Given the description of an element on the screen output the (x, y) to click on. 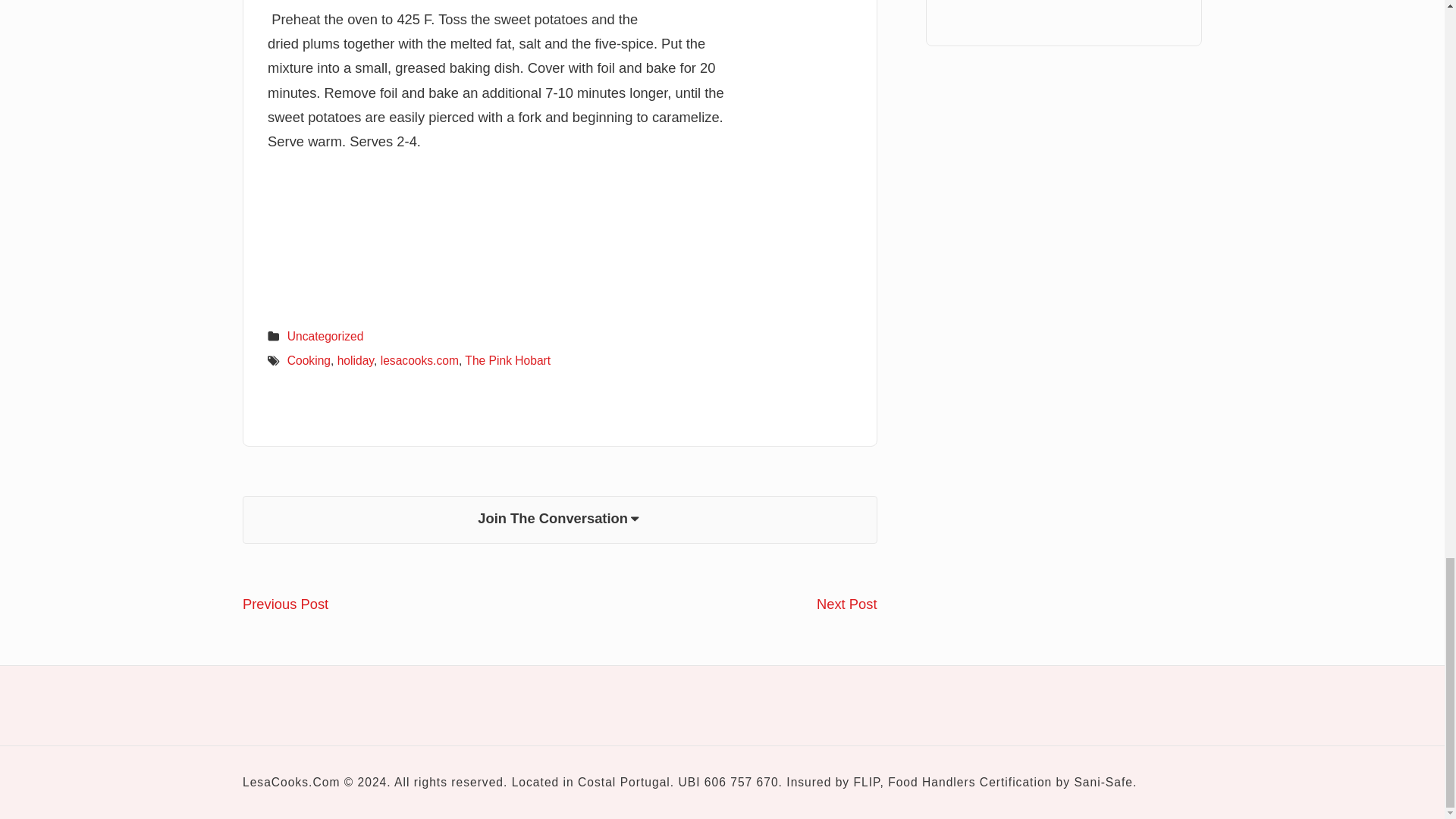
Join The Conversation (560, 519)
Cooking (308, 359)
holiday (355, 359)
Uncategorized (846, 604)
lesacooks.com (286, 604)
The Pink Hobart (325, 336)
